Given the description of an element on the screen output the (x, y) to click on. 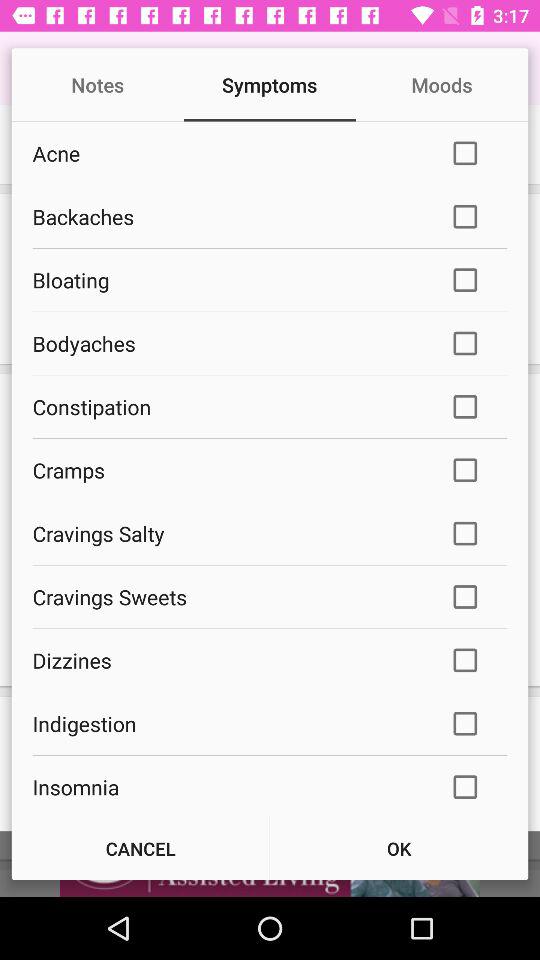
flip to the insomnia item (227, 786)
